Given the description of an element on the screen output the (x, y) to click on. 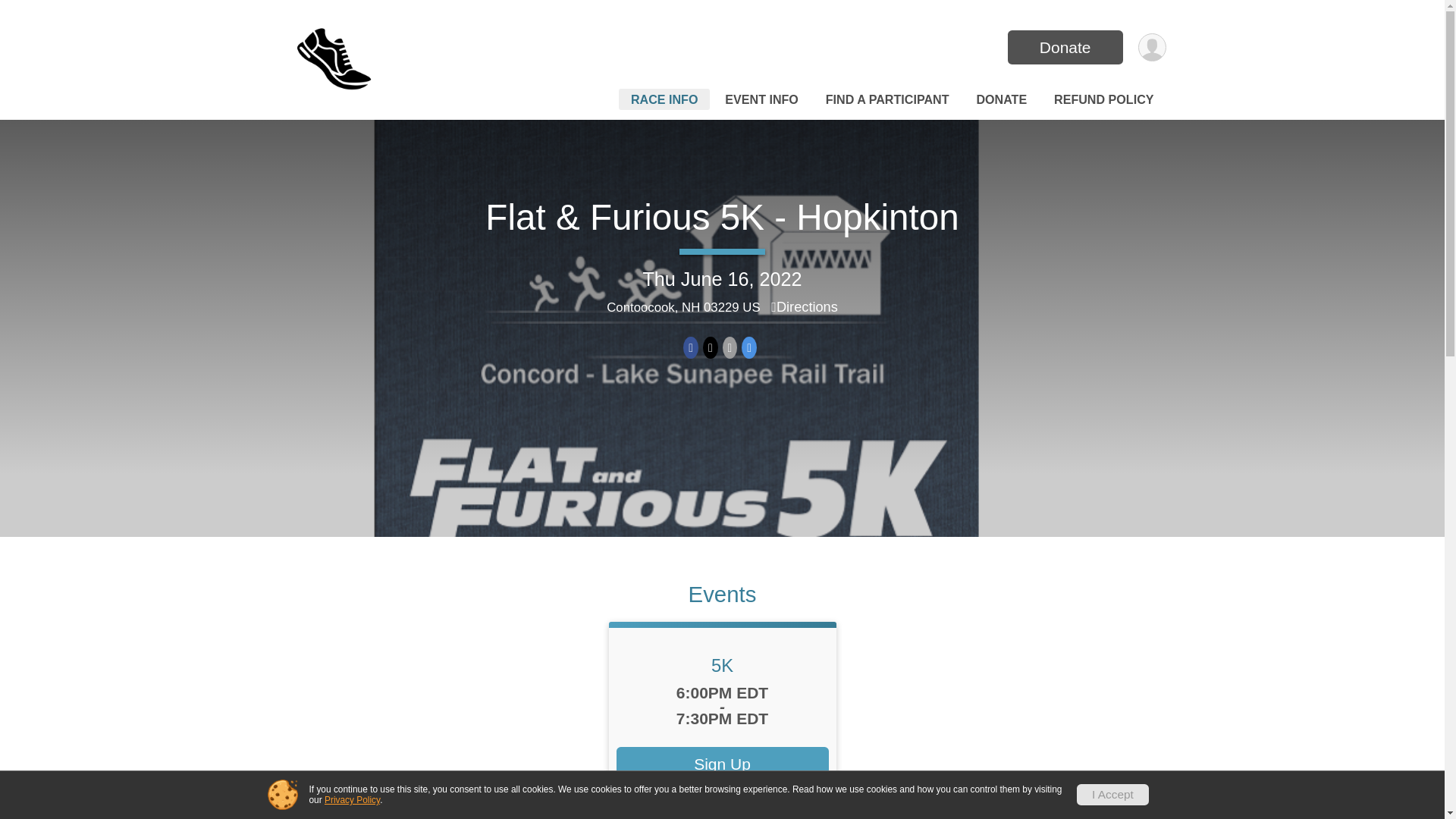
REFUND POLICY (1103, 98)
DONATE (1000, 98)
Directions (804, 306)
FIND A PARTICIPANT (887, 98)
Donate (1064, 47)
5K (722, 665)
EVENT INFO (761, 98)
RACE INFO (664, 98)
Sign Up (721, 763)
